Given the description of an element on the screen output the (x, y) to click on. 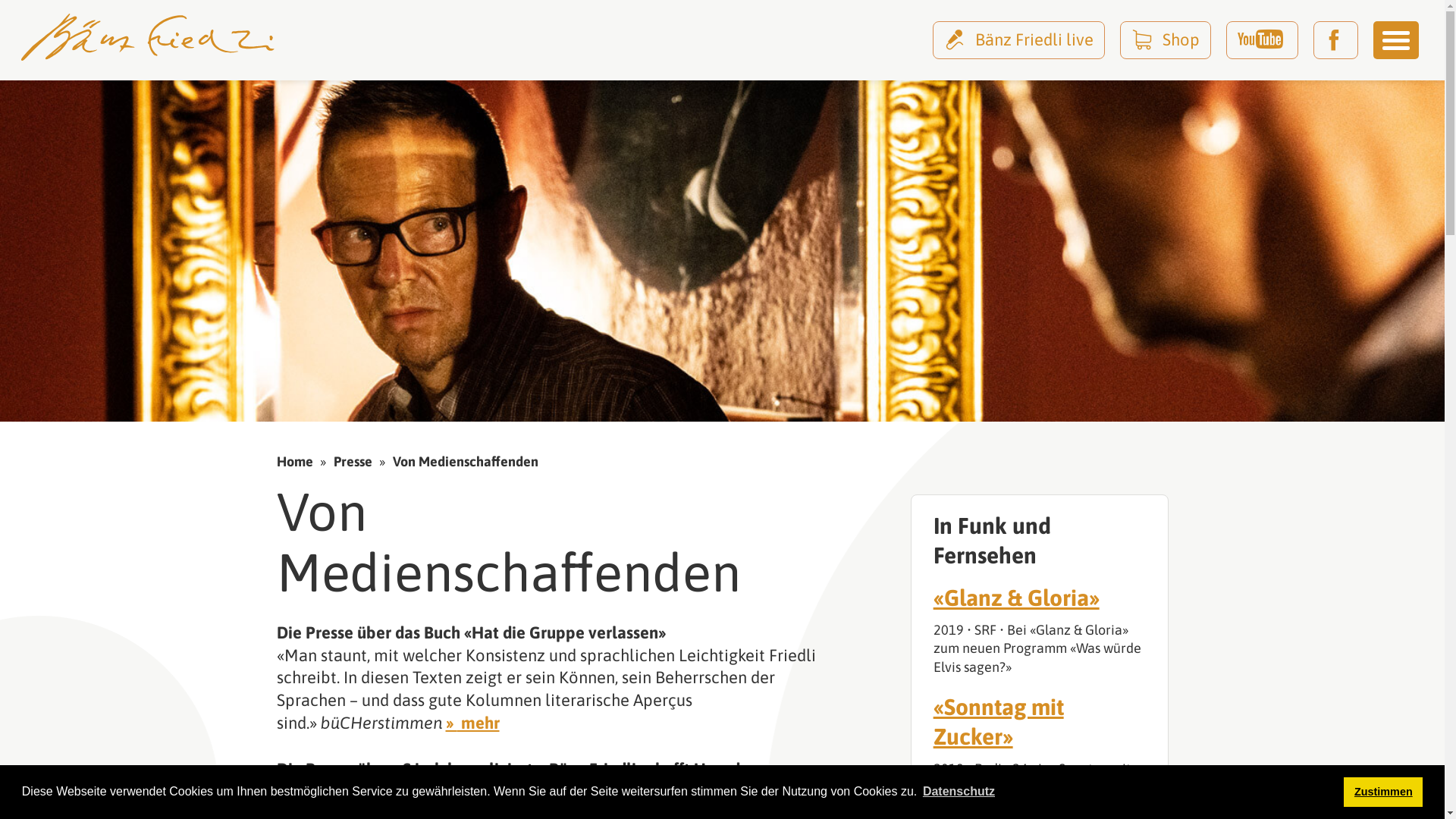
Datenschutz Element type: text (958, 791)
Zustimmen Element type: text (1382, 791)
  Element type: text (1262, 40)
Shop Element type: text (1165, 40)
  Element type: text (1335, 40)
Von Medienschaffenden Element type: text (465, 461)
Home Element type: text (294, 461)
 mehr Element type: text (472, 722)
Presse Element type: text (352, 461)
